Given the description of an element on the screen output the (x, y) to click on. 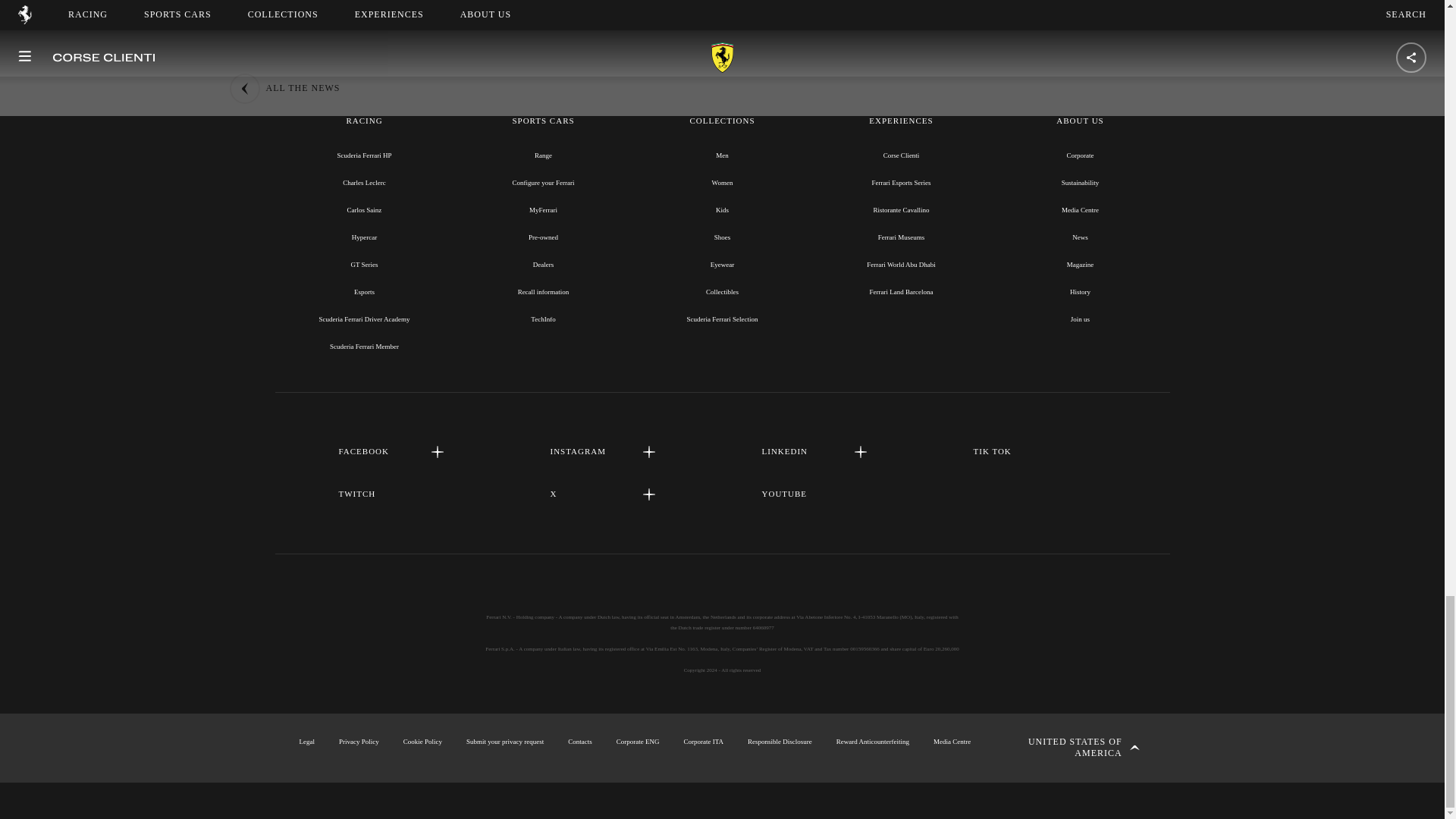
Hypercar (364, 236)
Recall information (543, 291)
Configure your Ferrari (543, 182)
Carlos Sainz (364, 209)
SUBSCRIBE (721, 2)
Pre-owned (542, 236)
Scuderia Ferrari Member (364, 346)
GT Series (363, 264)
Change country (1072, 747)
MyFerrari (543, 209)
Dealers (542, 264)
Scuderia Ferrari Driver Academy (363, 318)
Charles Leclerc (363, 182)
Esports (363, 291)
Scuderia Ferrari HP (363, 154)
